Given the description of an element on the screen output the (x, y) to click on. 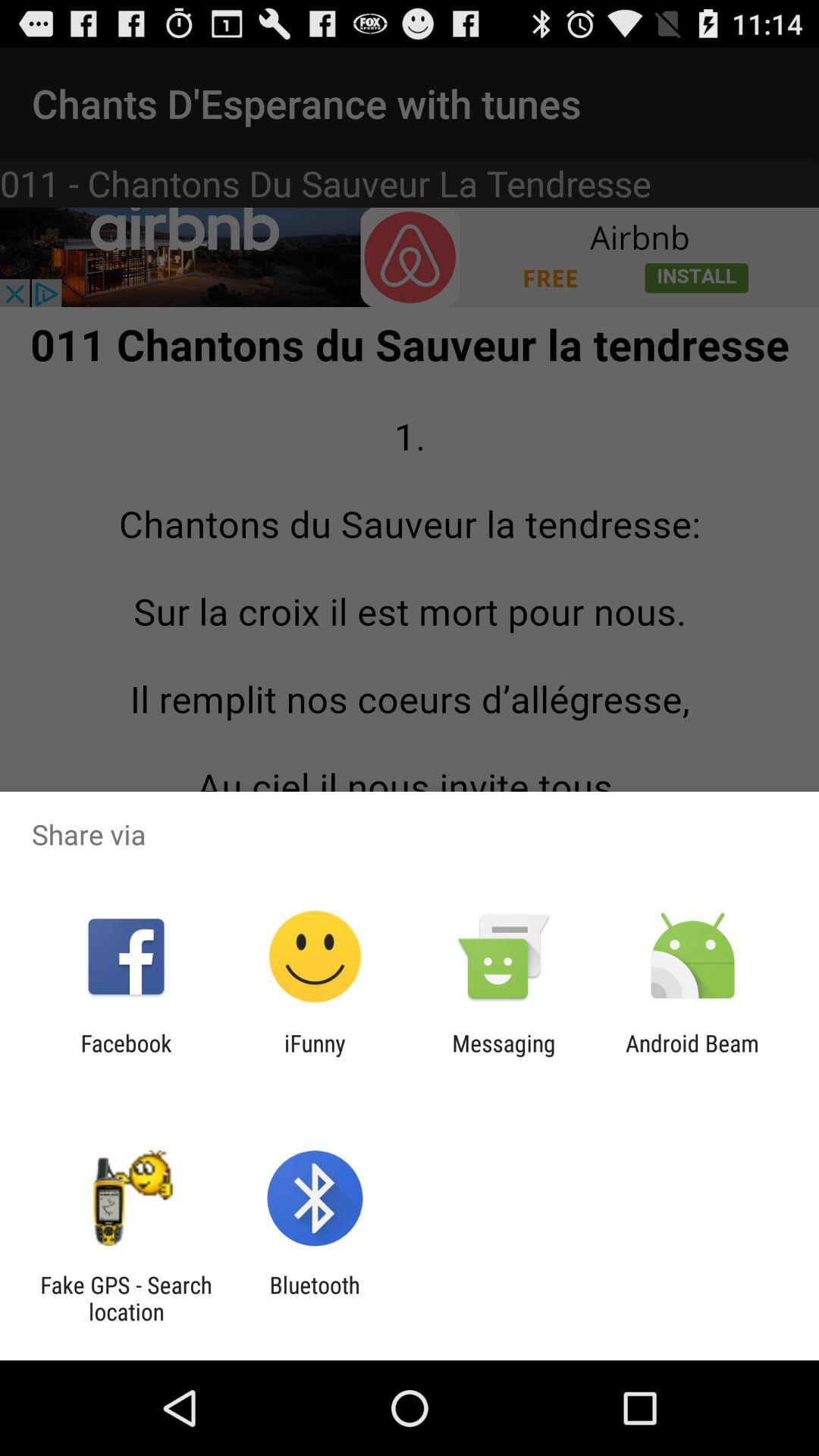
press app next to ifunny app (125, 1056)
